Given the description of an element on the screen output the (x, y) to click on. 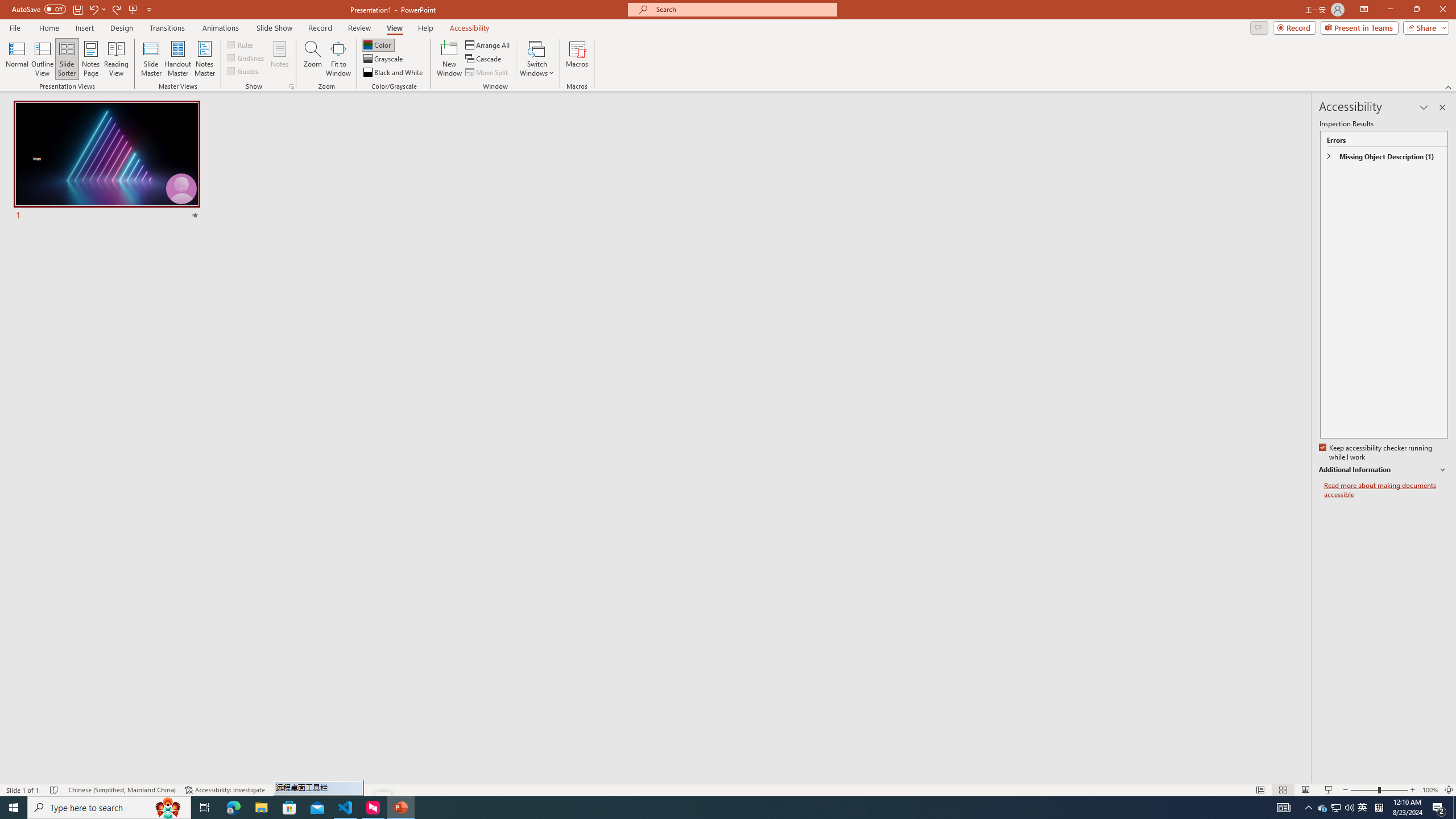
Additional Information (1383, 469)
Notes Master (204, 58)
Ruler (241, 44)
Arrange All (488, 44)
Notes Page (90, 58)
Read more about making documents accessible (1385, 489)
